Given the description of an element on the screen output the (x, y) to click on. 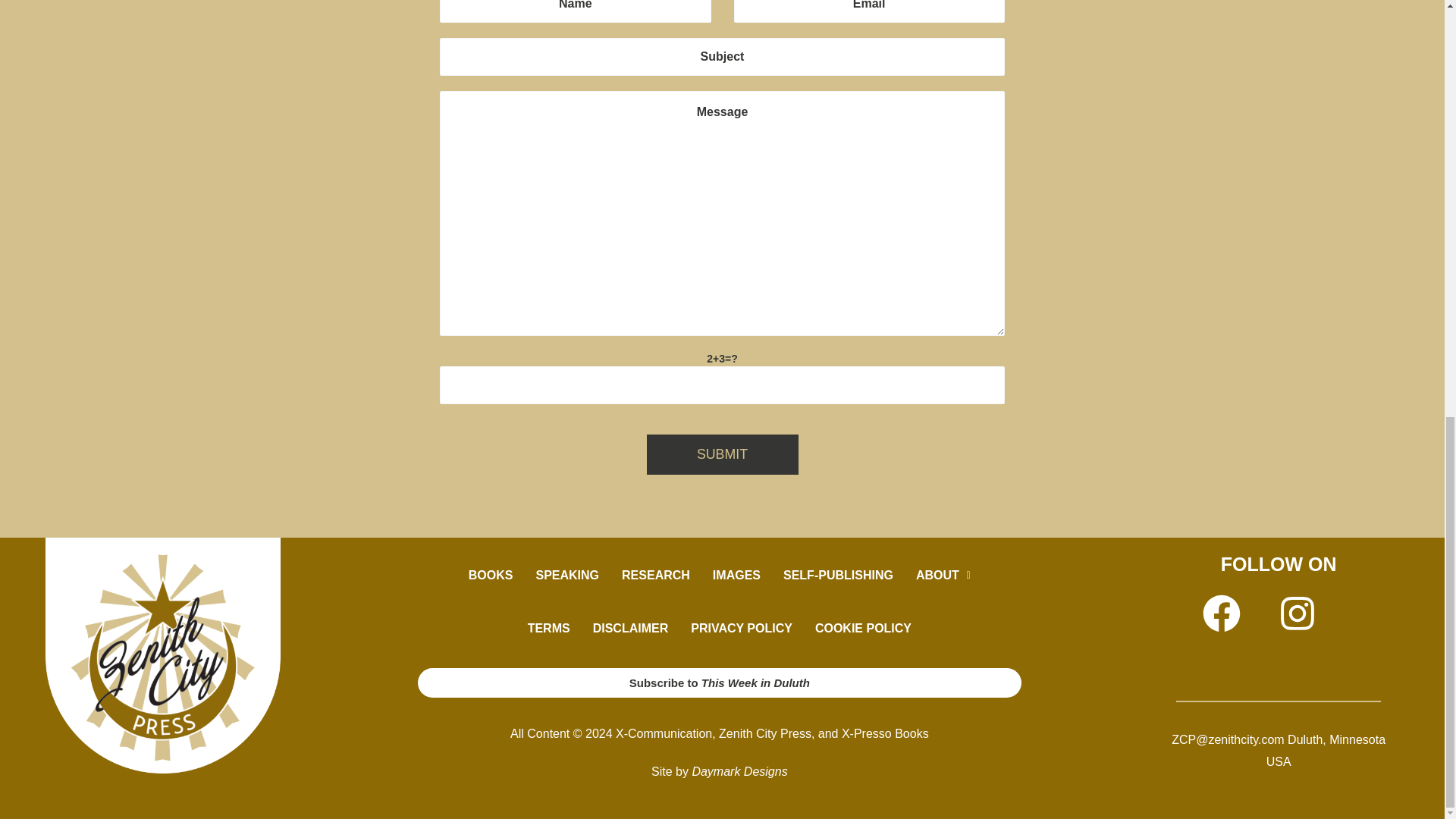
IMAGES (736, 574)
TERMS (548, 628)
RESEARCH (655, 574)
ABOUT (942, 574)
Submit (721, 454)
COOKIE POLICY (863, 628)
Submit (721, 454)
DISCLAIMER (629, 628)
SELF-PUBLISHING (837, 574)
PRIVACY POLICY (741, 628)
BOOKS (490, 574)
SPEAKING (567, 574)
